Given the description of an element on the screen output the (x, y) to click on. 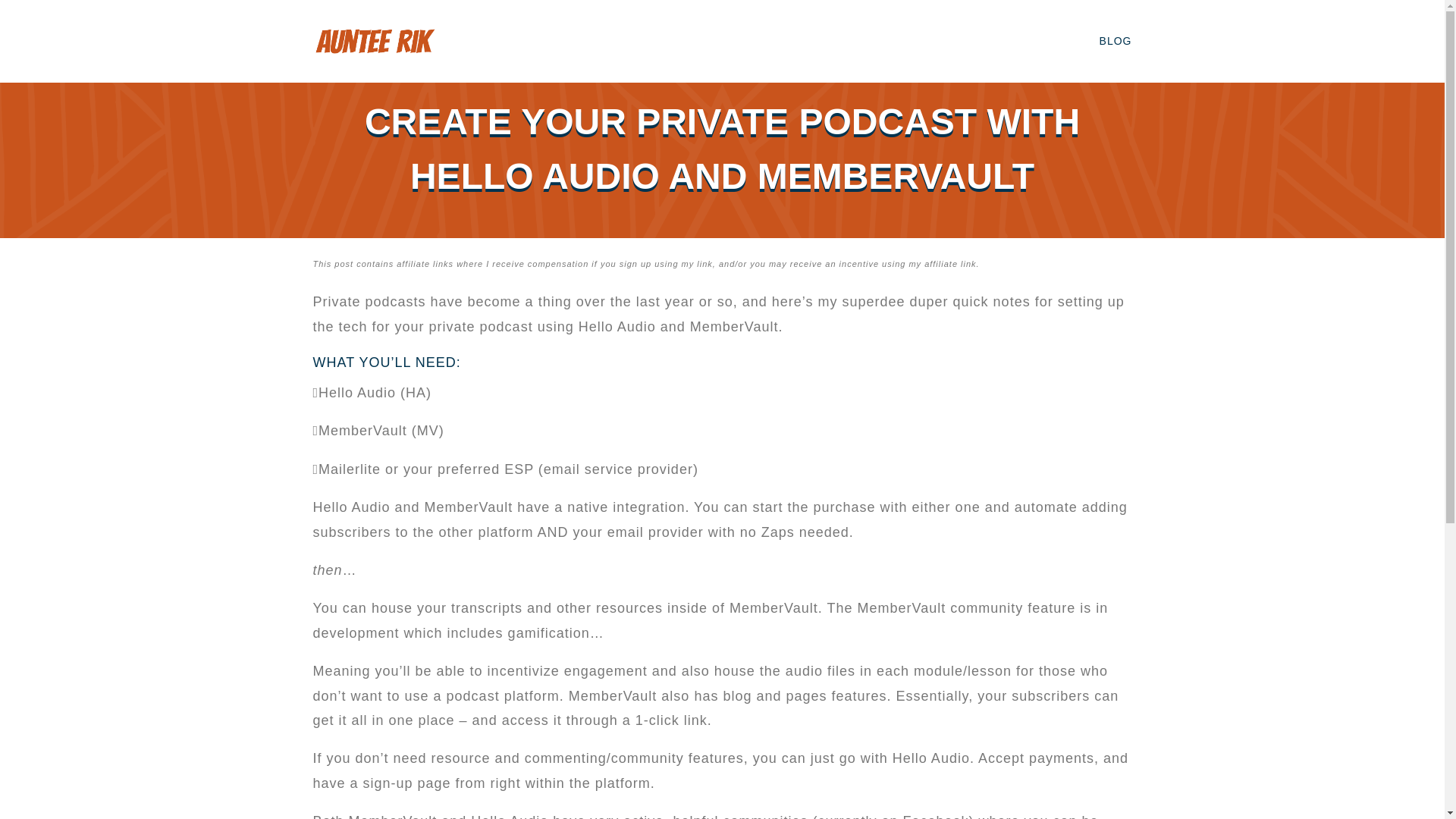
BLOG (1115, 40)
